Given the description of an element on the screen output the (x, y) to click on. 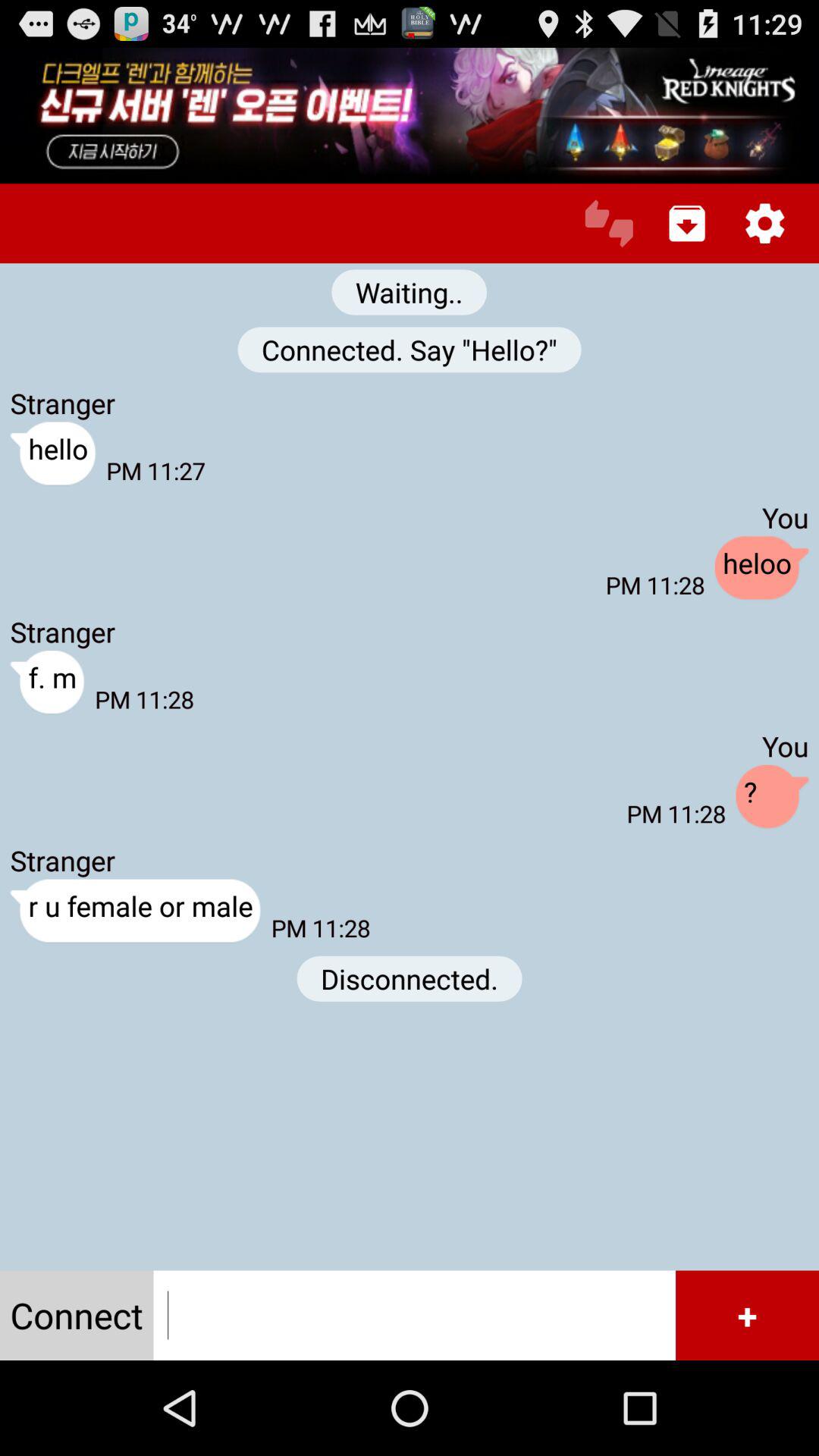
turn on the app to the right of the pm 11:28 item (761, 568)
